Given the description of an element on the screen output the (x, y) to click on. 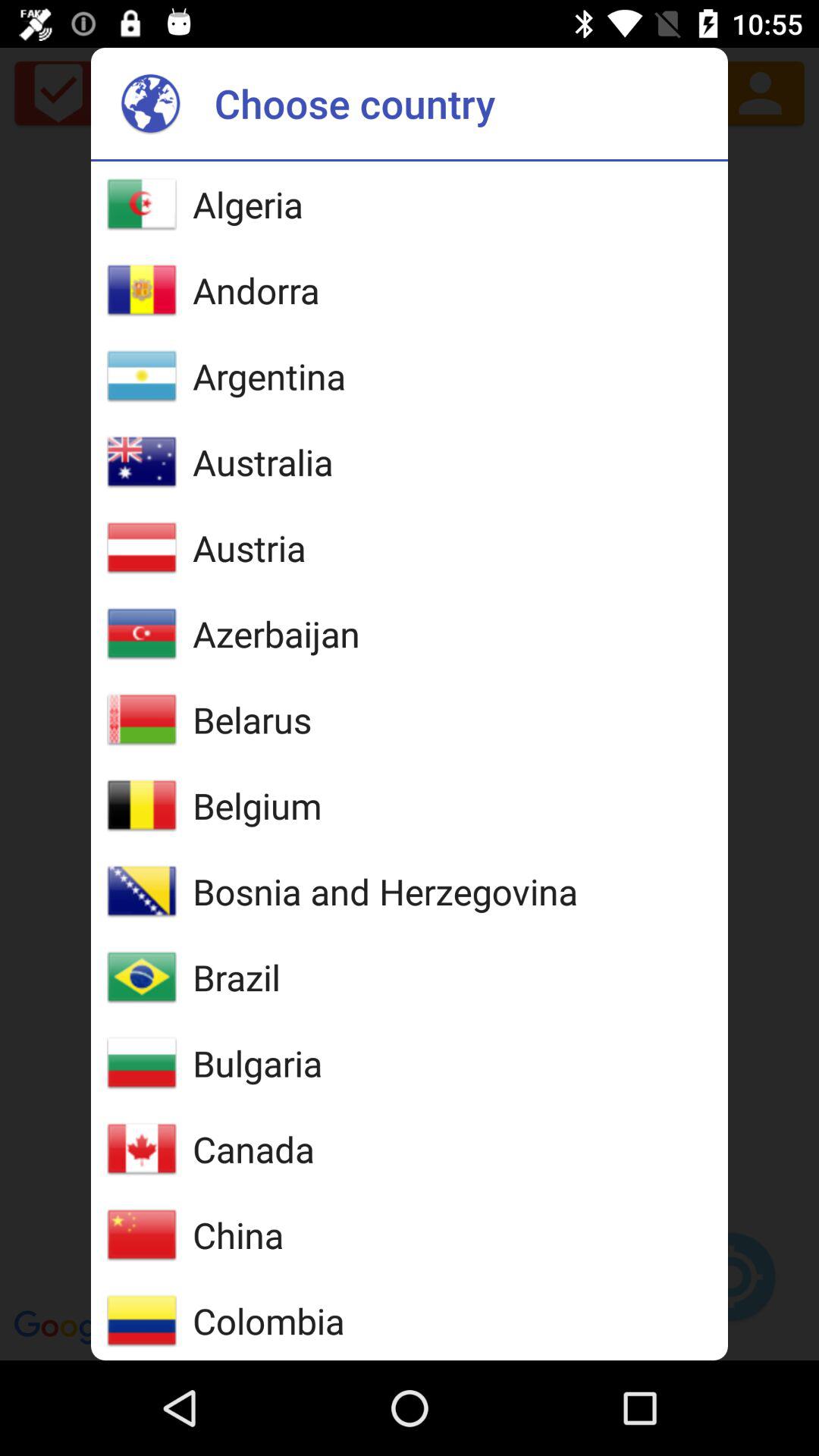
click australia (262, 461)
